Given the description of an element on the screen output the (x, y) to click on. 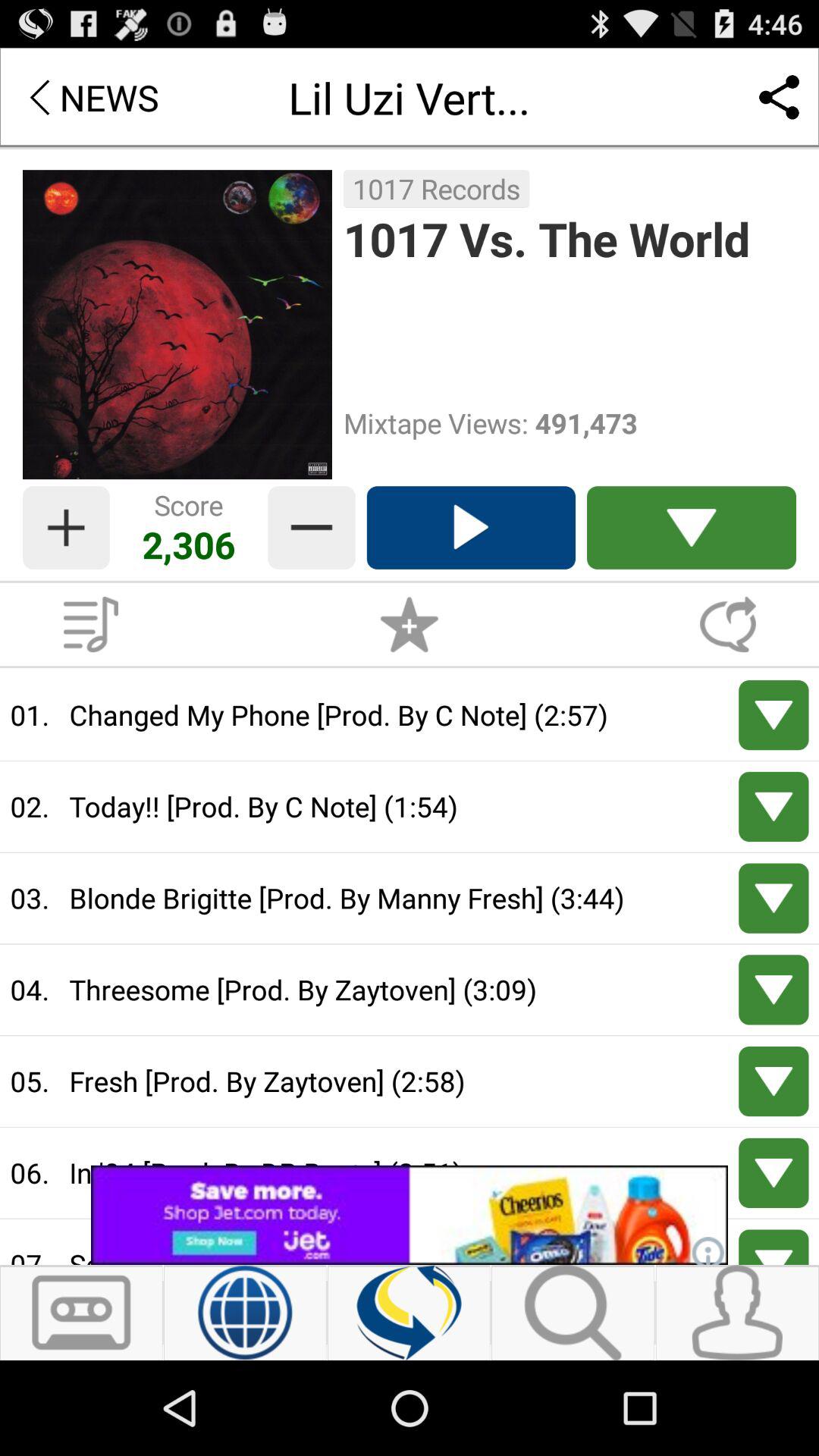
advertisement to favorite (409, 624)
